Given the description of an element on the screen output the (x, y) to click on. 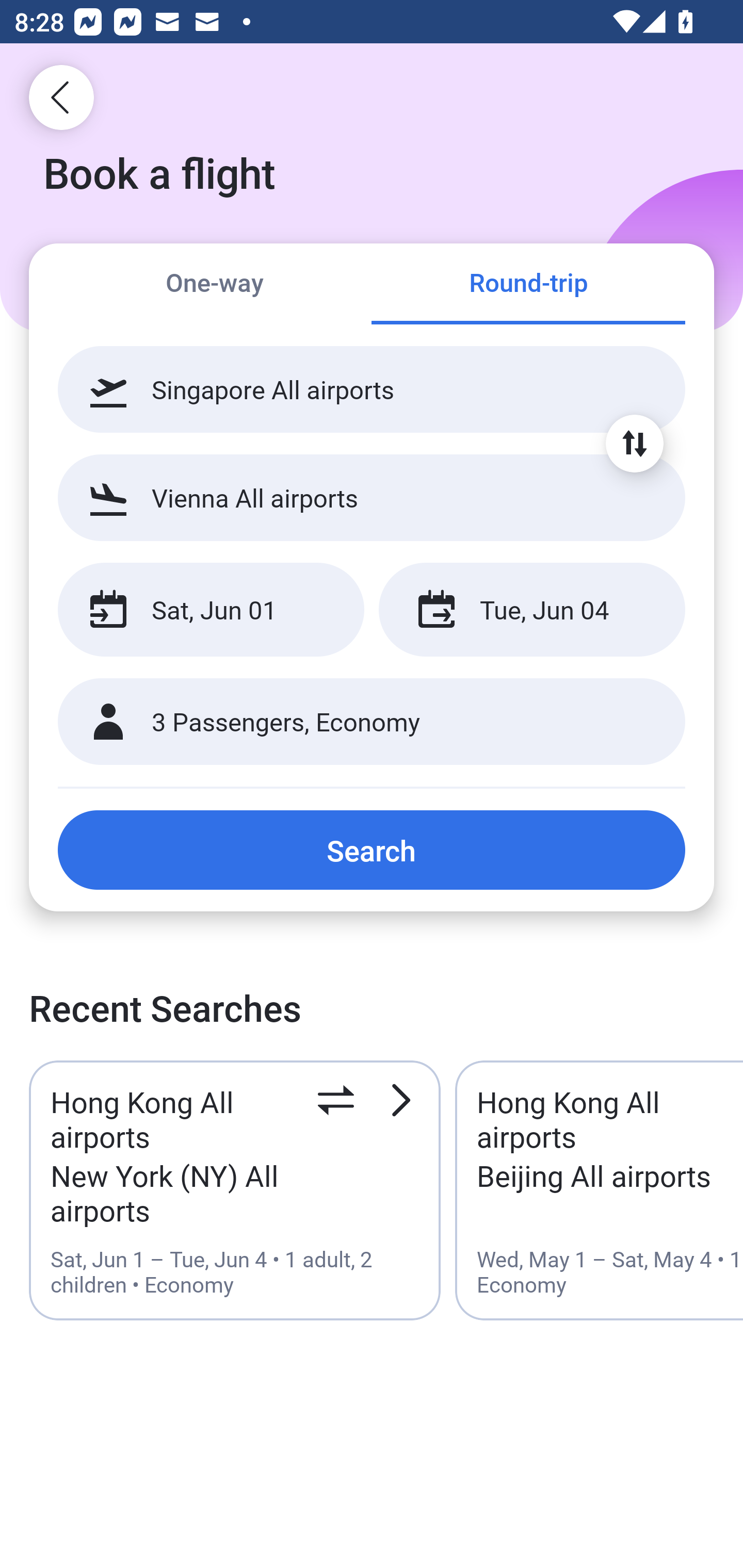
One-way (214, 284)
Singapore All airports (371, 389)
Vienna All airports (371, 497)
Sat, Jun 01 (210, 609)
Tue, Jun 04 (531, 609)
3 Passengers, Economy (371, 721)
Search (371, 849)
